Given the description of an element on the screen output the (x, y) to click on. 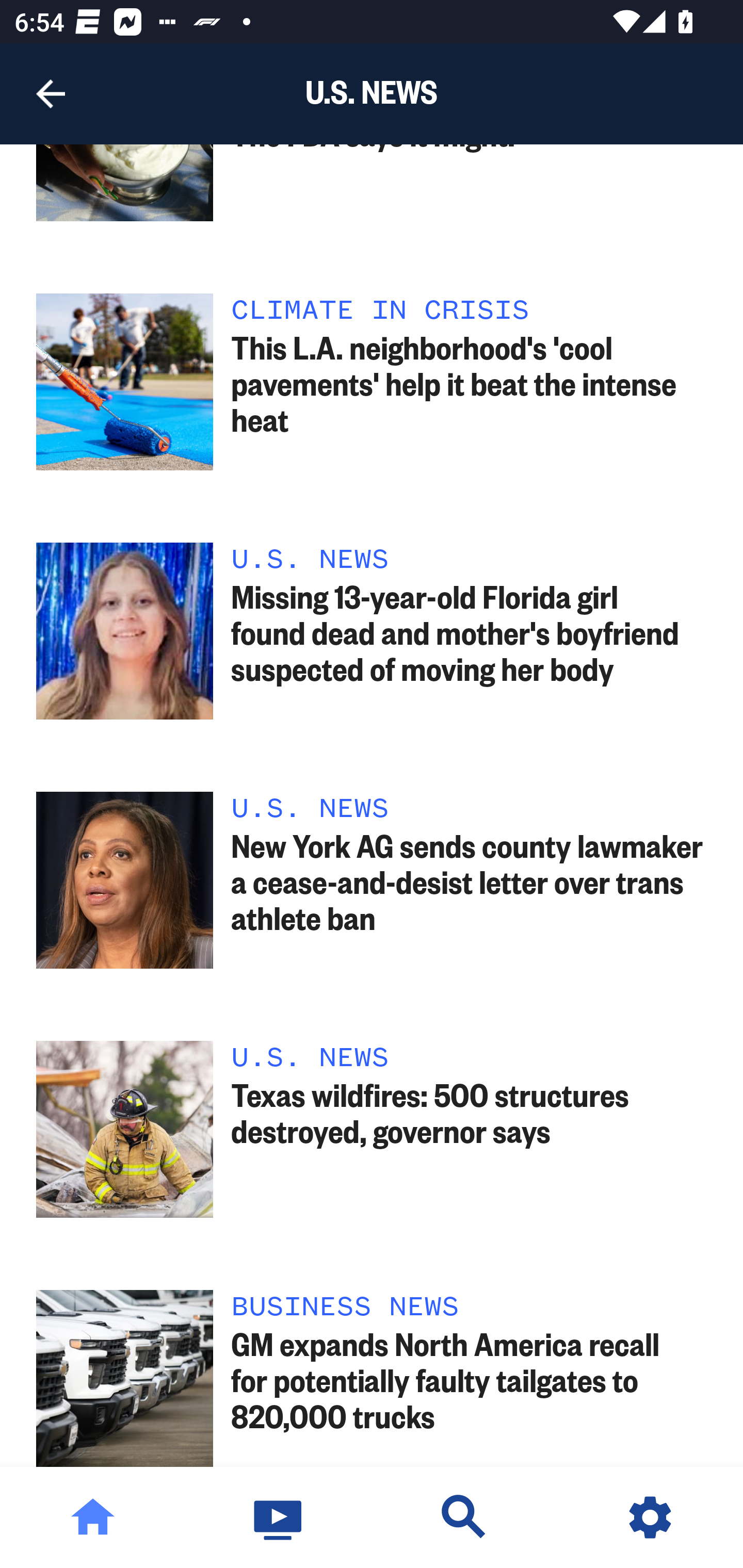
Navigate up (50, 93)
Watch (278, 1517)
Discover (464, 1517)
Settings (650, 1517)
